Given the description of an element on the screen output the (x, y) to click on. 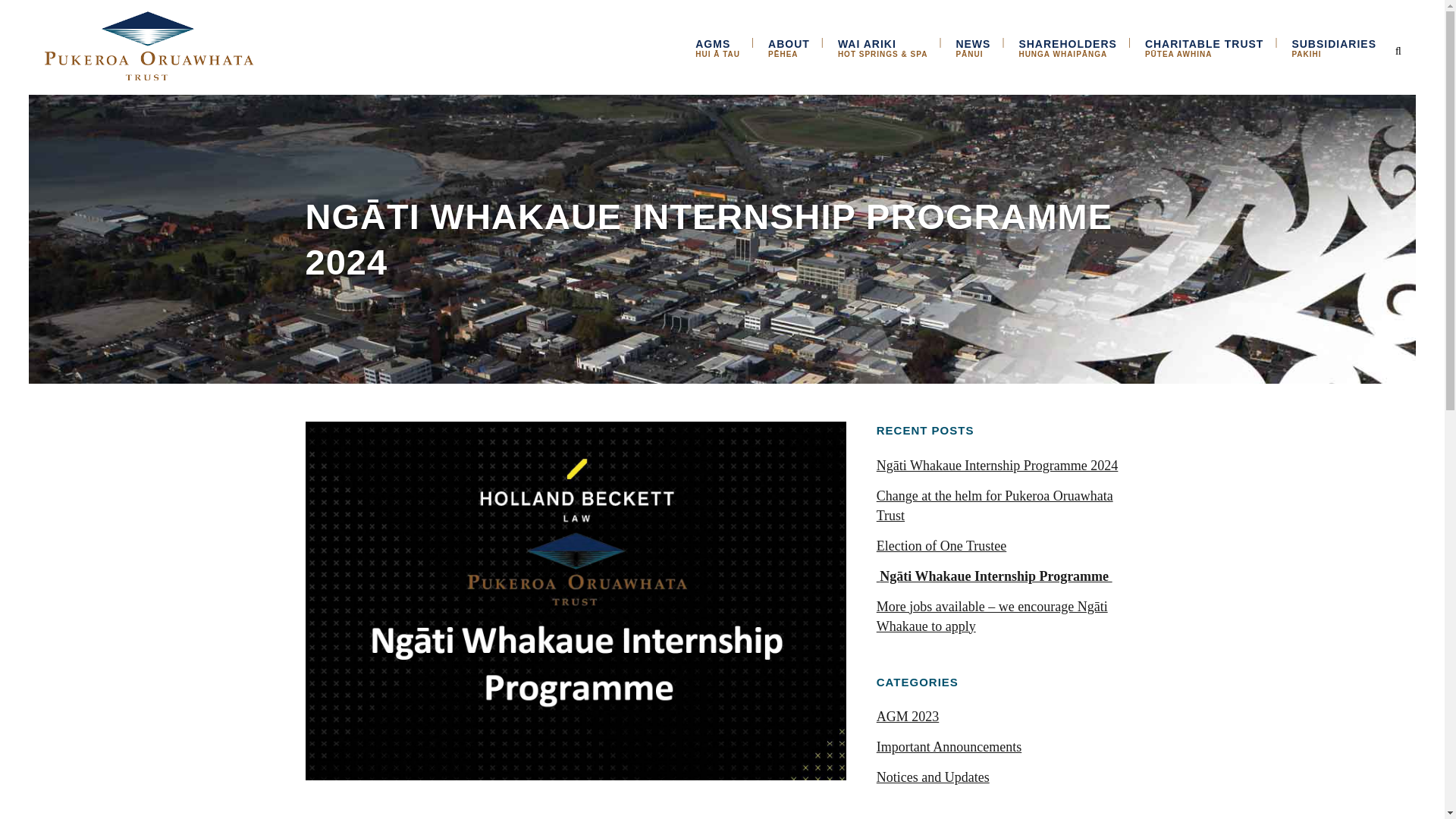
Change at the helm for Pukeroa Oruawhata Trust (1333, 47)
